Given the description of an element on the screen output the (x, y) to click on. 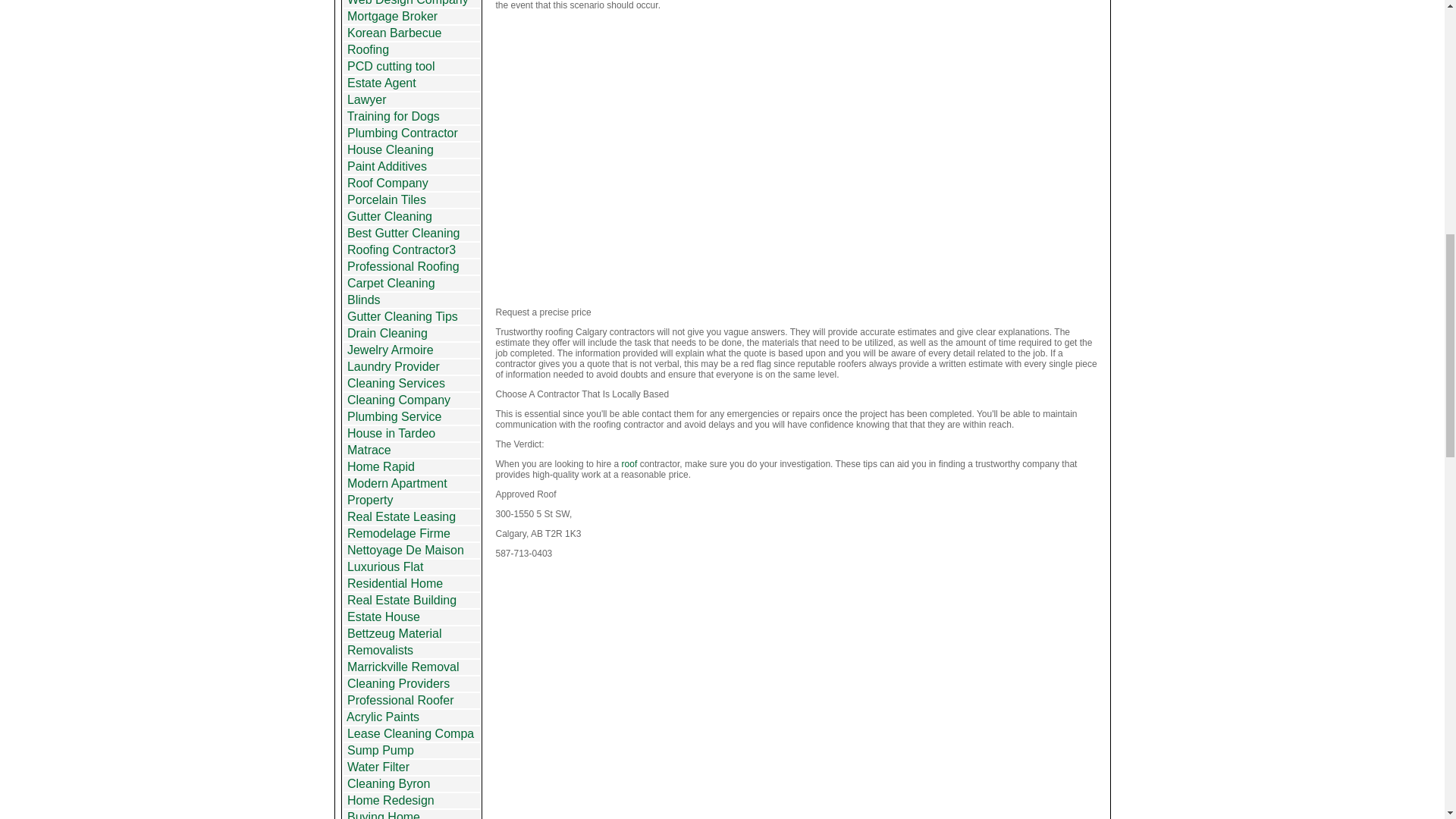
YouTube video player (800, 158)
